Given the description of an element on the screen output the (x, y) to click on. 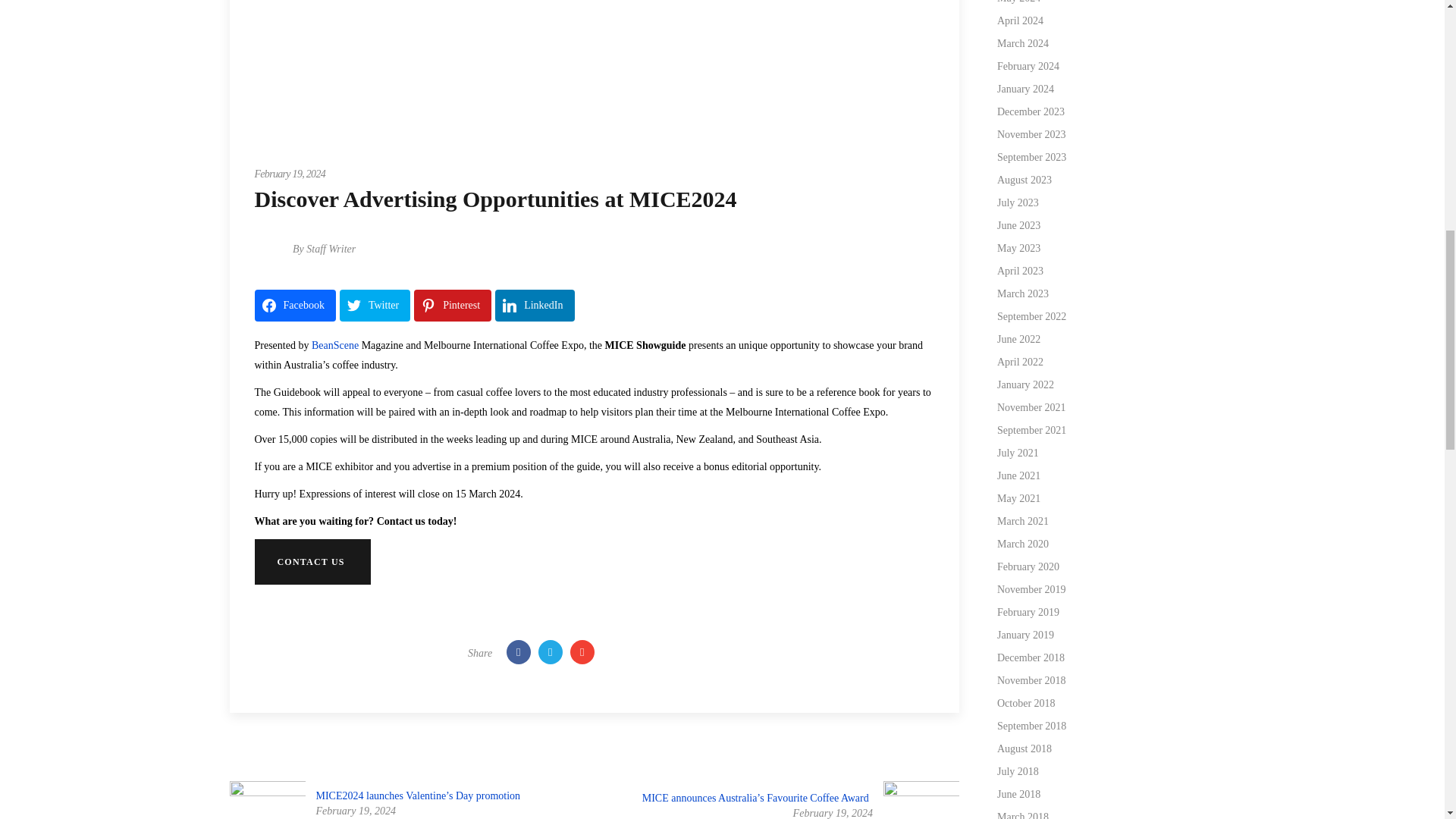
Facebook (295, 305)
Staff Writer (330, 248)
February 19, 2024 (289, 173)
Share on Facebook (295, 305)
Share on LinkedIn (534, 305)
Share on Twitter (374, 305)
Twitter (374, 305)
Share on Pinterest (452, 305)
